Given the description of an element on the screen output the (x, y) to click on. 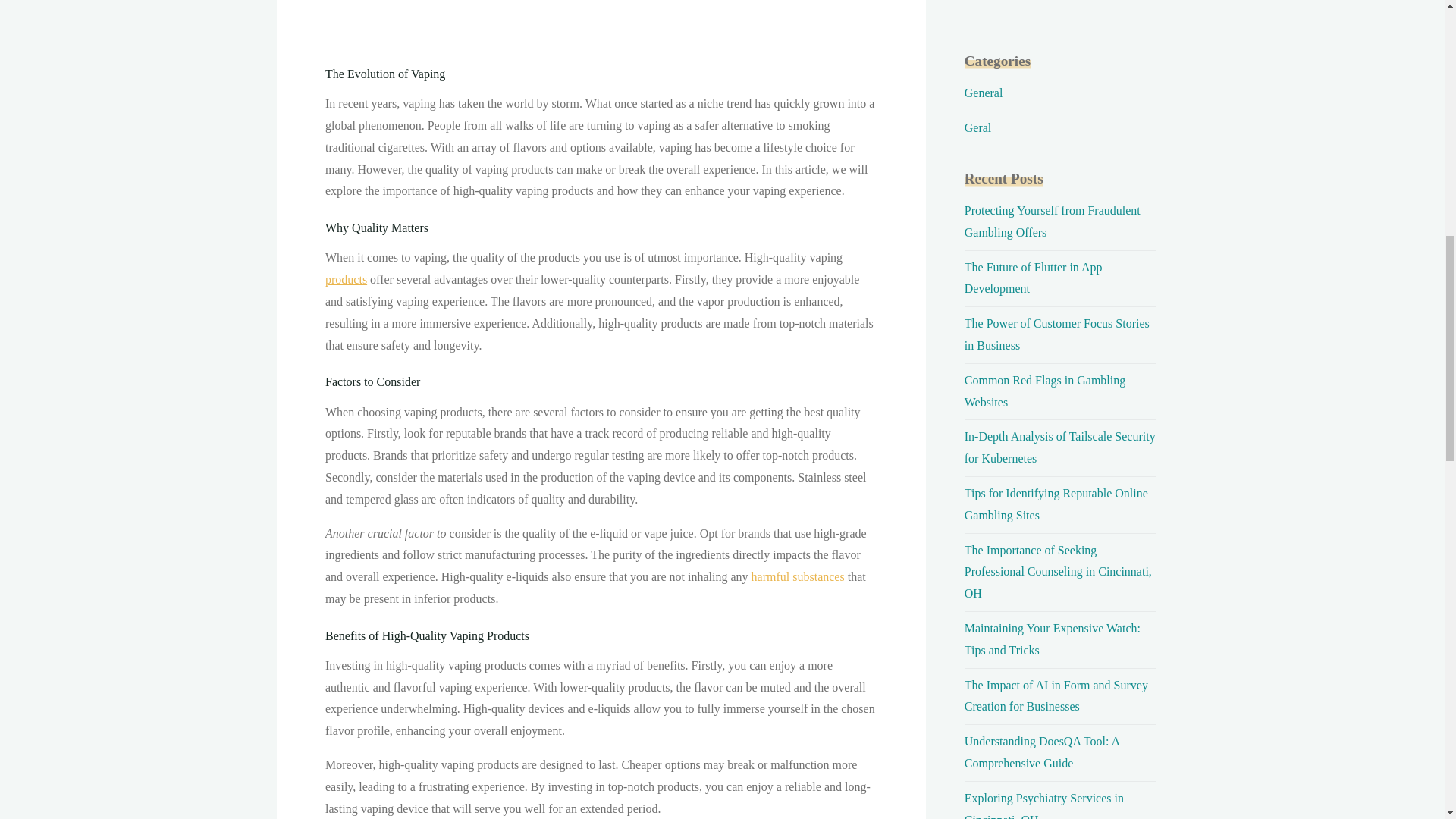
Exploring Psychiatry Services in Cincinnati, OH (1043, 805)
In-Depth Analysis of Tailscale Security for Kubernetes (1059, 447)
The Power of Customer Focus Stories in Business (1056, 334)
Geral (977, 127)
products (345, 278)
Common Red Flags in Gambling Websites (1044, 390)
Maintaining Your Expensive Watch: Tips and Tricks (1051, 638)
The Impact of AI in Form and Survey Creation for Businesses (1055, 695)
Tips for Identifying Reputable Online Gambling Sites (1055, 503)
